Given the description of an element on the screen output the (x, y) to click on. 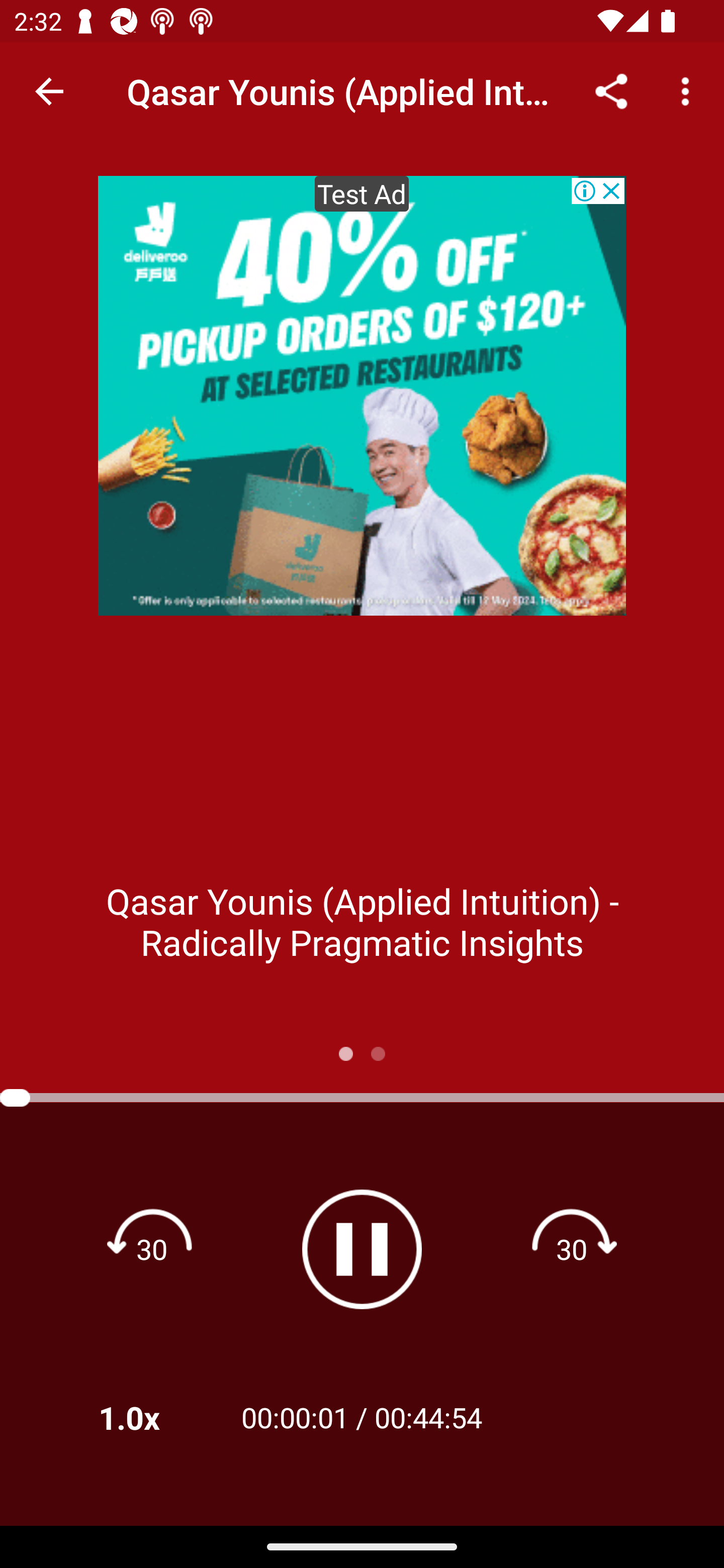
Navigate up (49, 91)
Share... (611, 90)
More options (688, 90)
Advertisement (361, 395)
Pause (361, 1249)
Rewind (151, 1248)
Fast forward (571, 1248)
1.0x Playback Speeds (154, 1417)
00:44:54 (428, 1417)
